Given the description of an element on the screen output the (x, y) to click on. 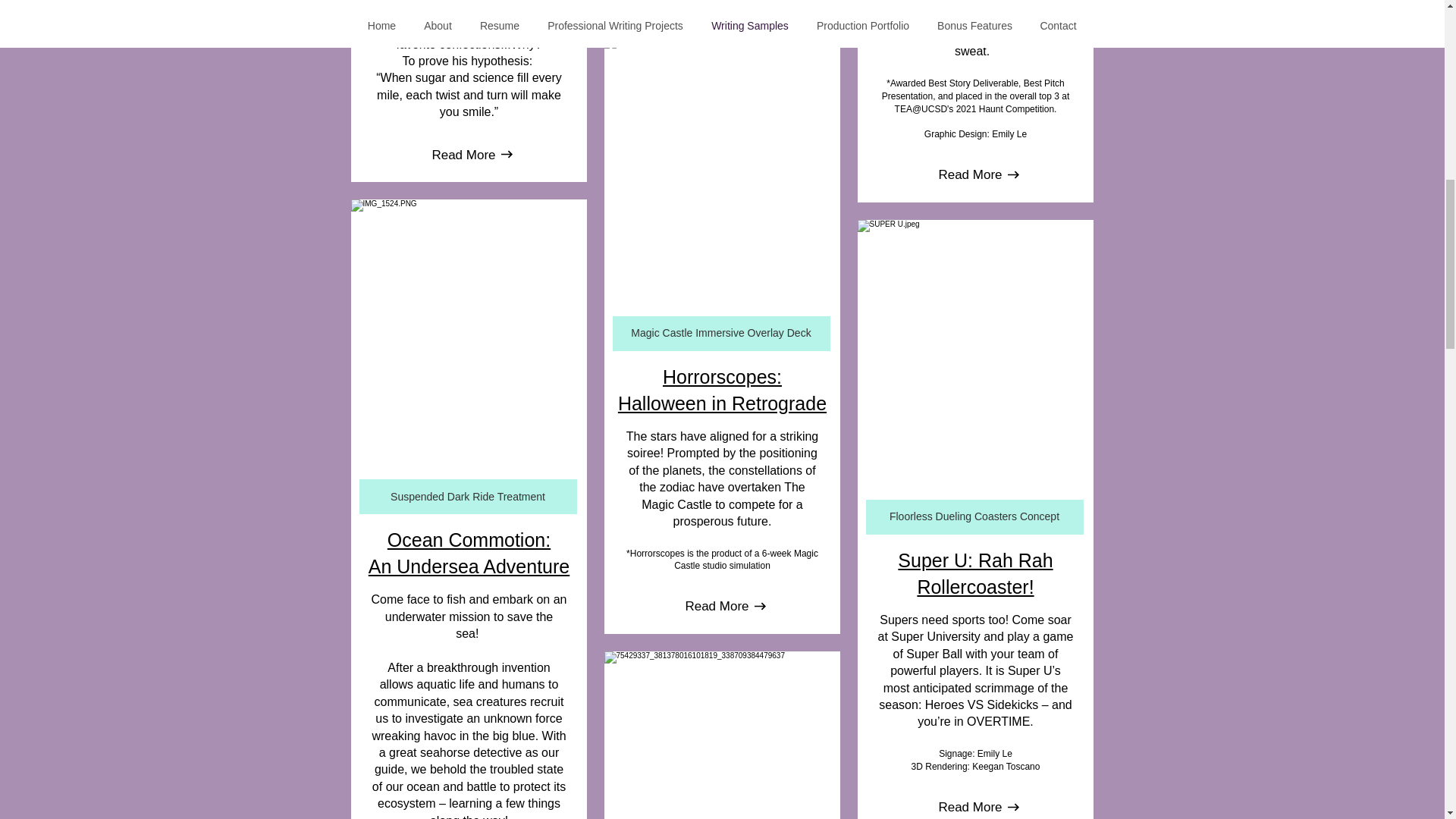
An Undersea Adventure (468, 566)
Magic Castle Immersive Overlay Deck (720, 333)
Ocean Commotion: (468, 539)
Read More (722, 390)
Read More (463, 154)
Read More (467, 496)
